Given the description of an element on the screen output the (x, y) to click on. 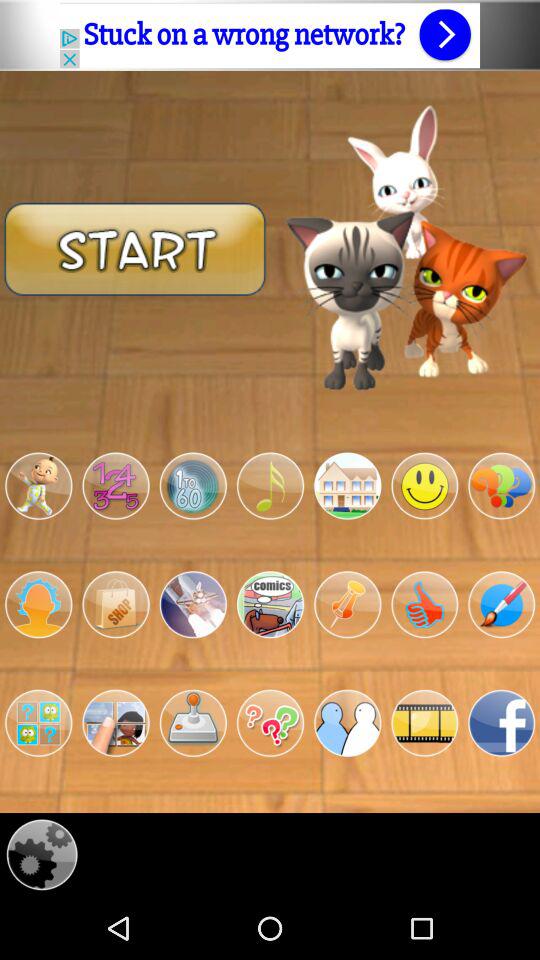
go to their facebook page (501, 723)
